Given the description of an element on the screen output the (x, y) to click on. 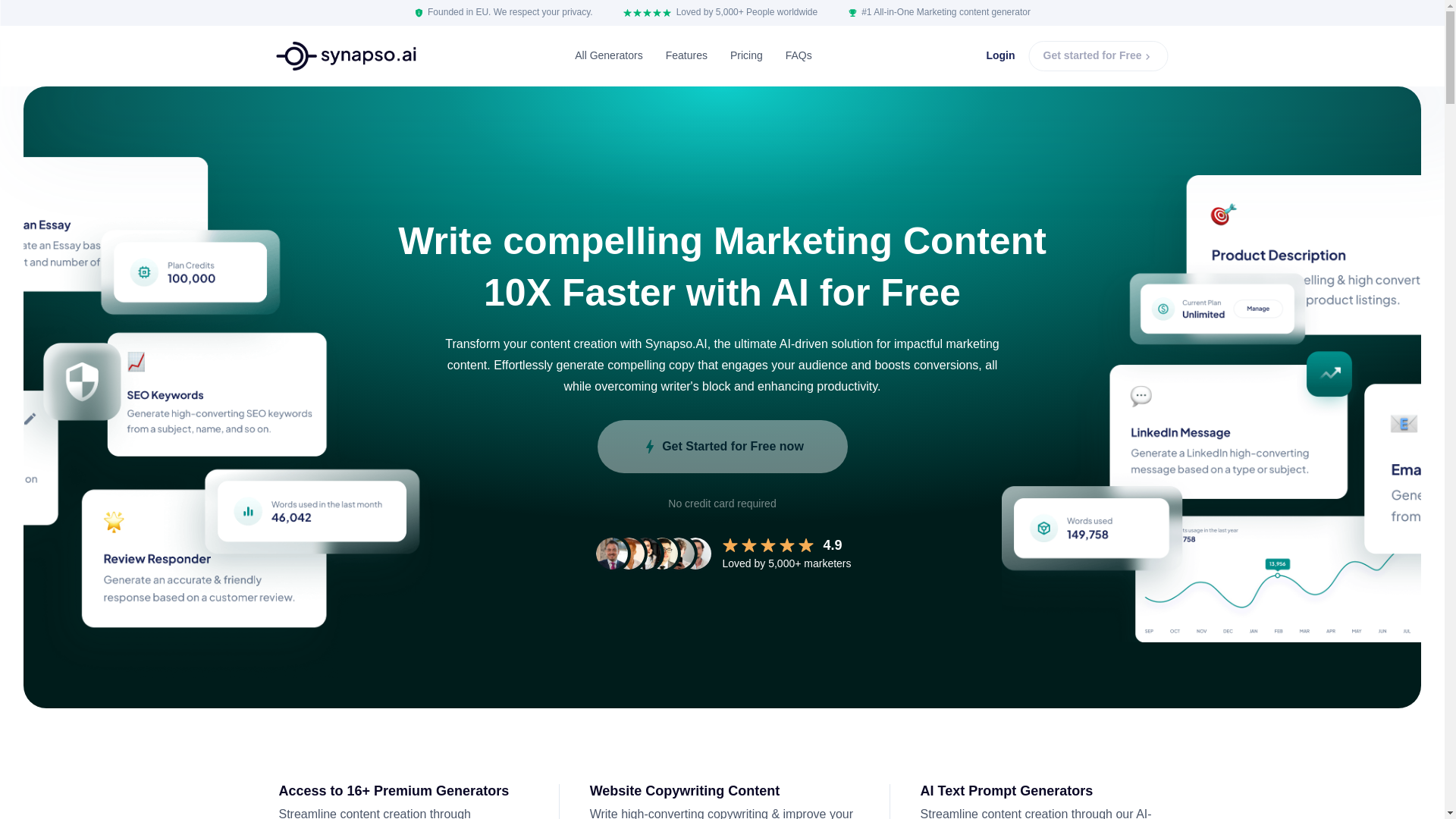
Features (686, 55)
All Generators (608, 55)
FAQs (799, 55)
Login (999, 55)
Get Started for Free now (721, 446)
Pricing (746, 55)
Get started for Free (1099, 55)
